Given the description of an element on the screen output the (x, y) to click on. 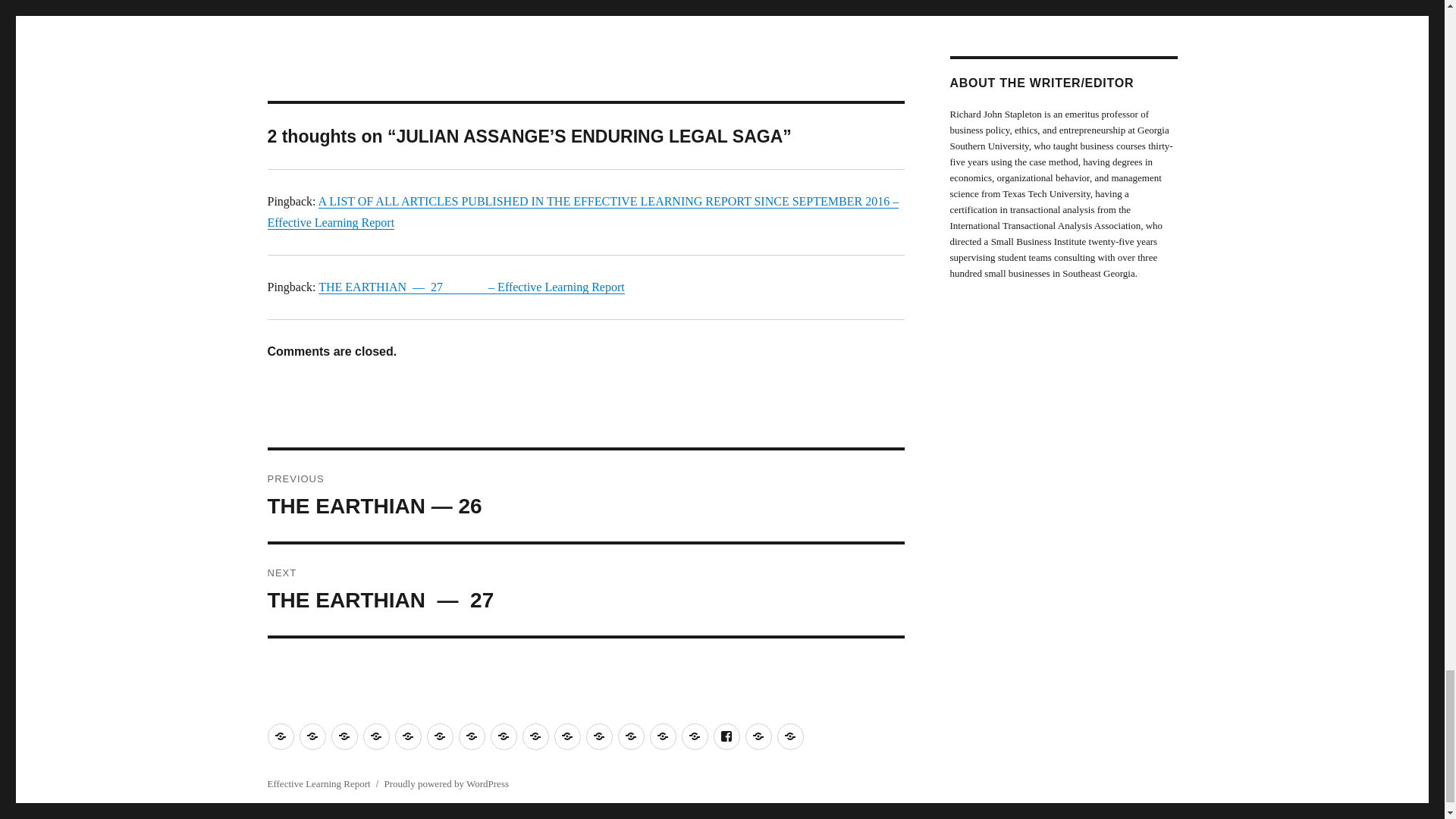
twitter (537, 7)
linkedin (574, 7)
pinterest (502, 7)
facebook (466, 7)
